Given the description of an element on the screen output the (x, y) to click on. 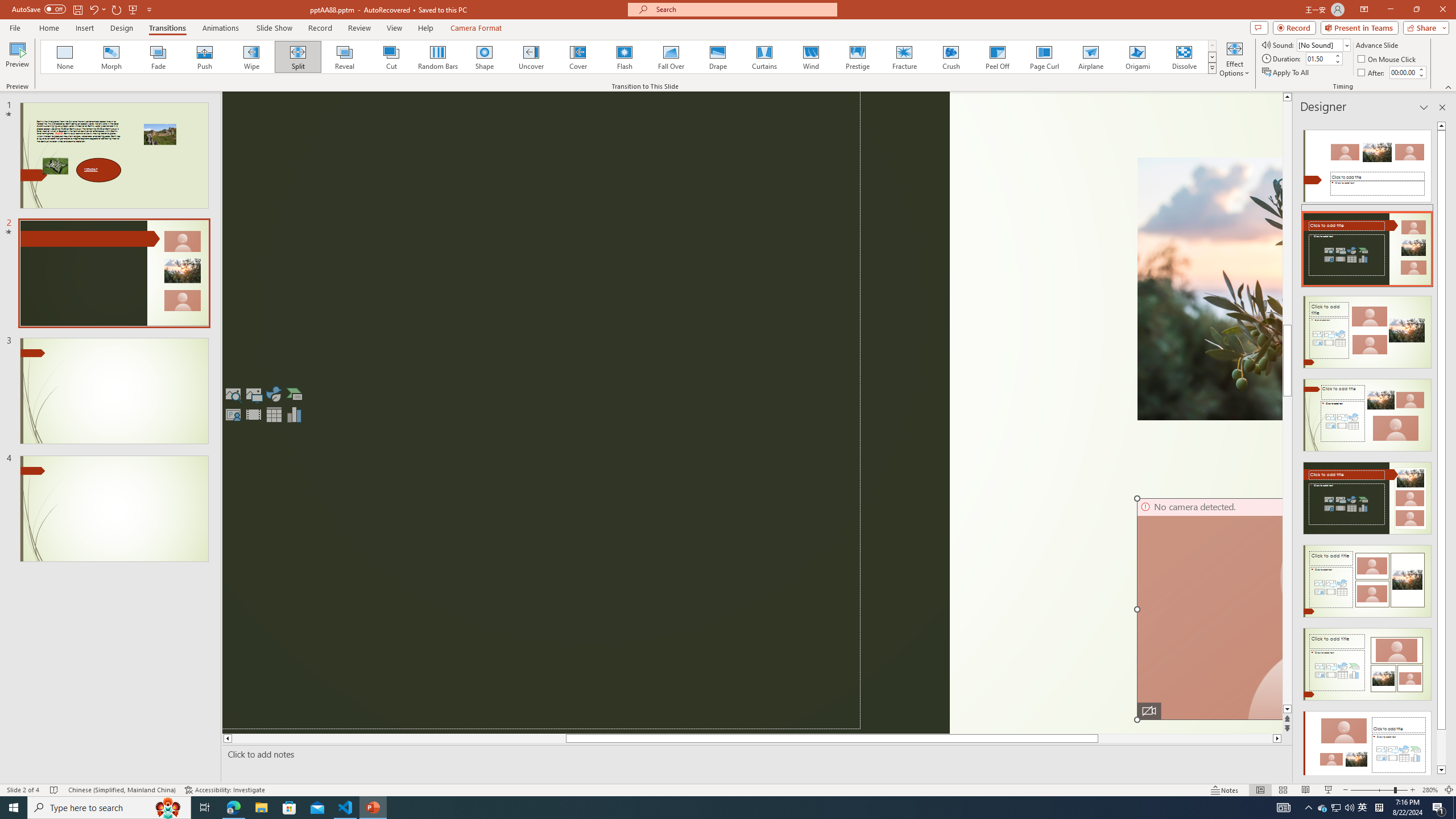
Insert Chart (294, 414)
Flash (624, 56)
Split (298, 56)
Fall Over (670, 56)
Duration (1319, 58)
Insert an Icon (273, 393)
Class: NetUIScrollBar (1441, 447)
Airplane (1090, 56)
Task Pane Options (1423, 107)
